Given the description of an element on the screen output the (x, y) to click on. 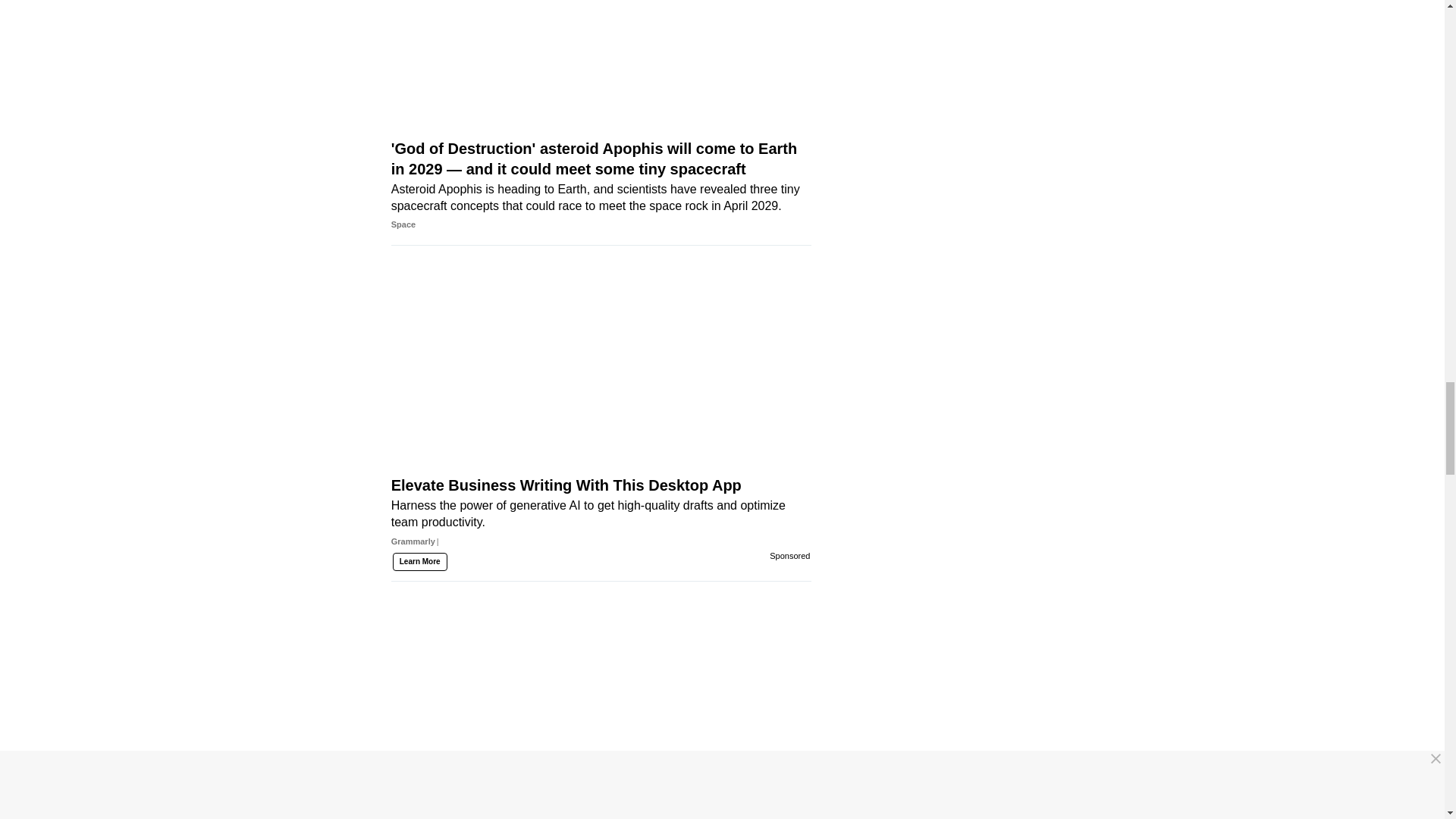
Elevate Business Writing With This Desktop App (600, 540)
Elevate Business Writing With This Desktop App (600, 389)
